Given the description of an element on the screen output the (x, y) to click on. 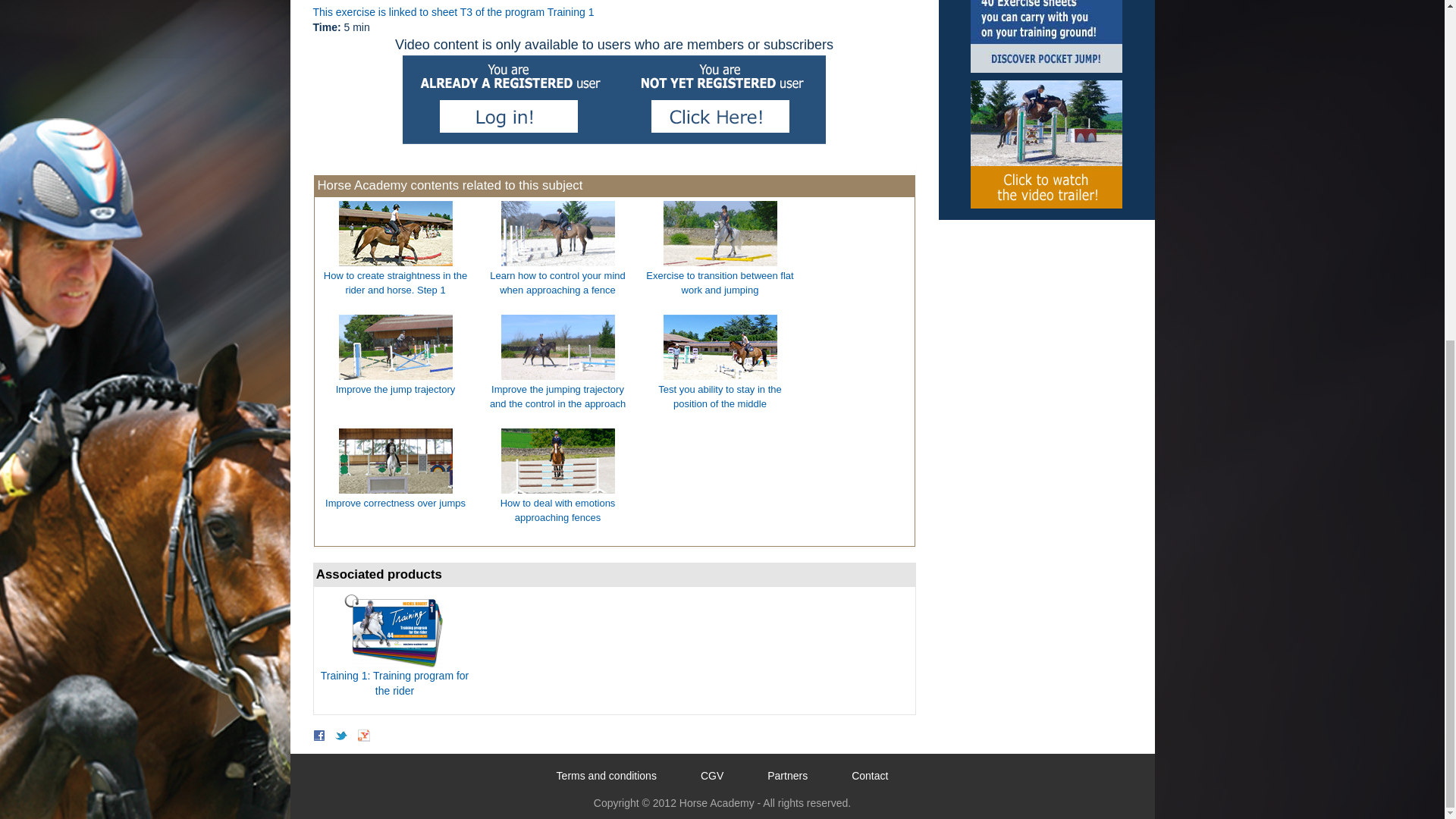
Learn how to control your mind when approaching a fence (557, 248)
How to create straightness in the rider and horse. Step 1 (395, 248)
Improve the jump trajectory (395, 355)
How to deal with emotions approaching fences (557, 476)
Share this on Twitter (340, 735)
Video trailer (1046, 144)
Improve correctness over jumps (395, 469)
Share on Facebook (318, 735)
Test you ability to stay in the position of the middle (720, 362)
Exercise to transition between flat work and jumping (720, 248)
Pocket'Jump (1046, 36)
Bookmark this post on Yahoo (363, 735)
